Given the description of an element on the screen output the (x, y) to click on. 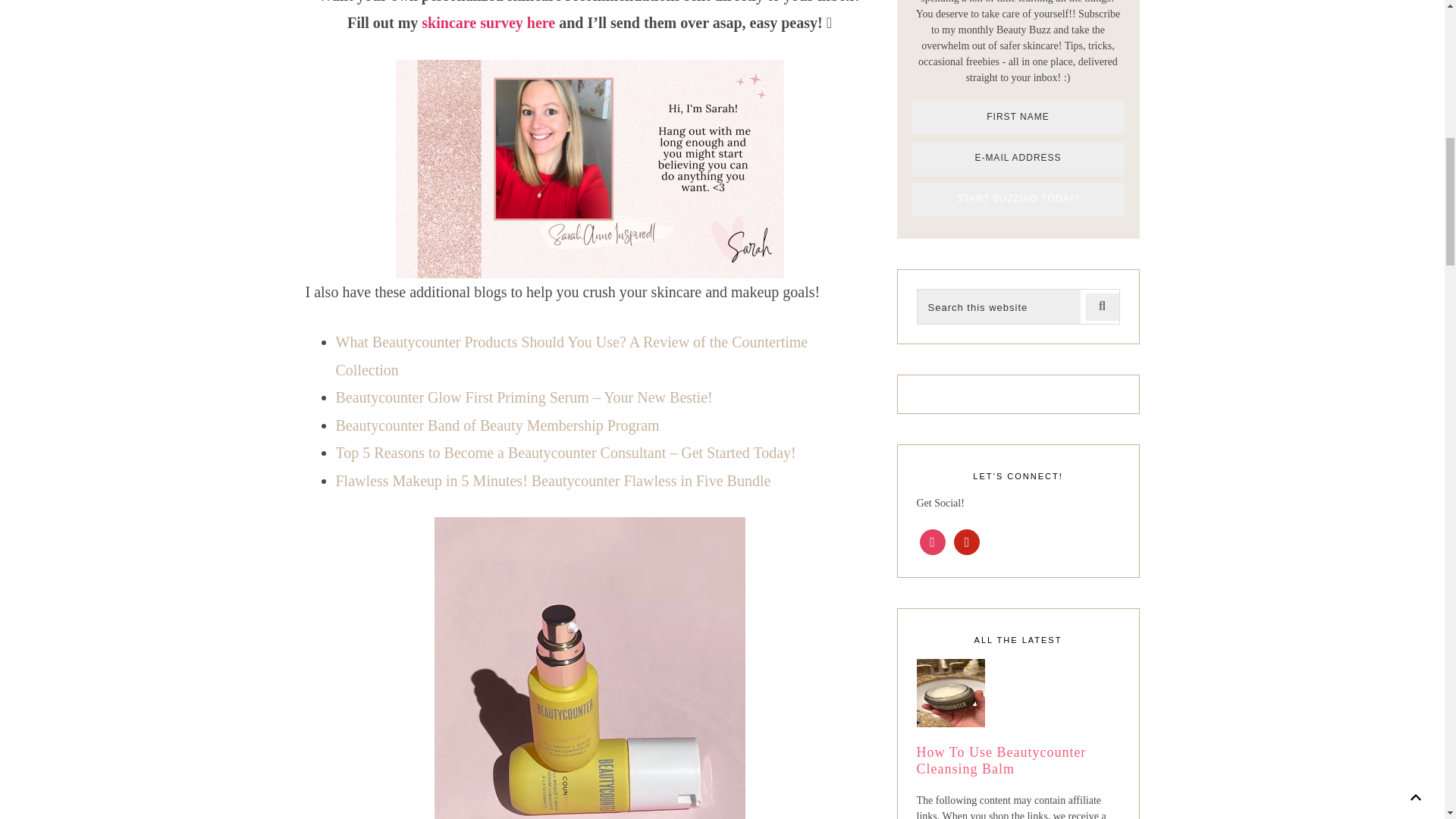
skincare survey here (488, 22)
Default Label (966, 541)
Start buzzing today! (1017, 199)
